Given the description of an element on the screen output the (x, y) to click on. 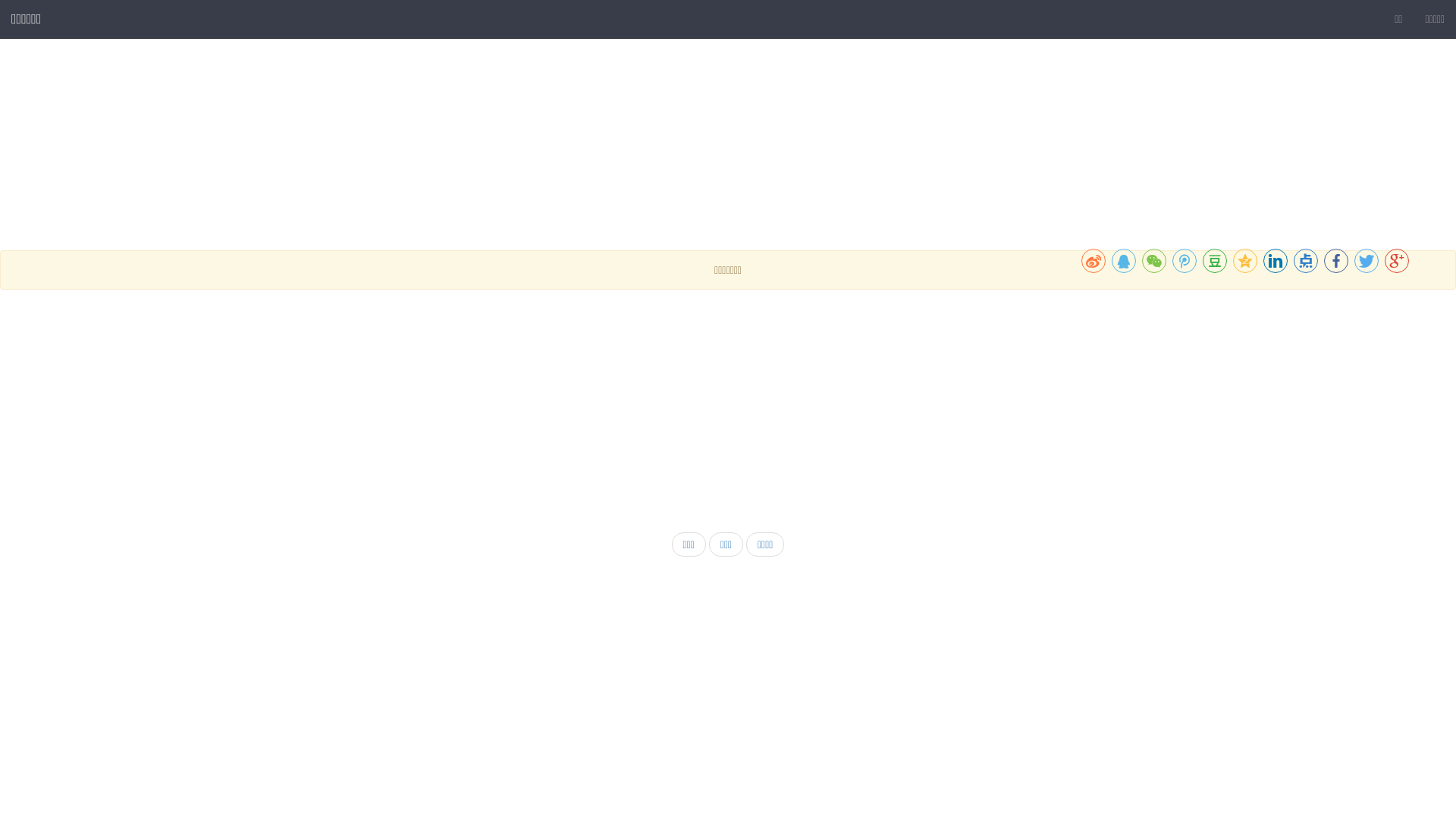
Advertisement Element type: hover (455, 143)
Advertisement Element type: hover (455, 677)
Advertisement Element type: hover (455, 410)
